Given the description of an element on the screen output the (x, y) to click on. 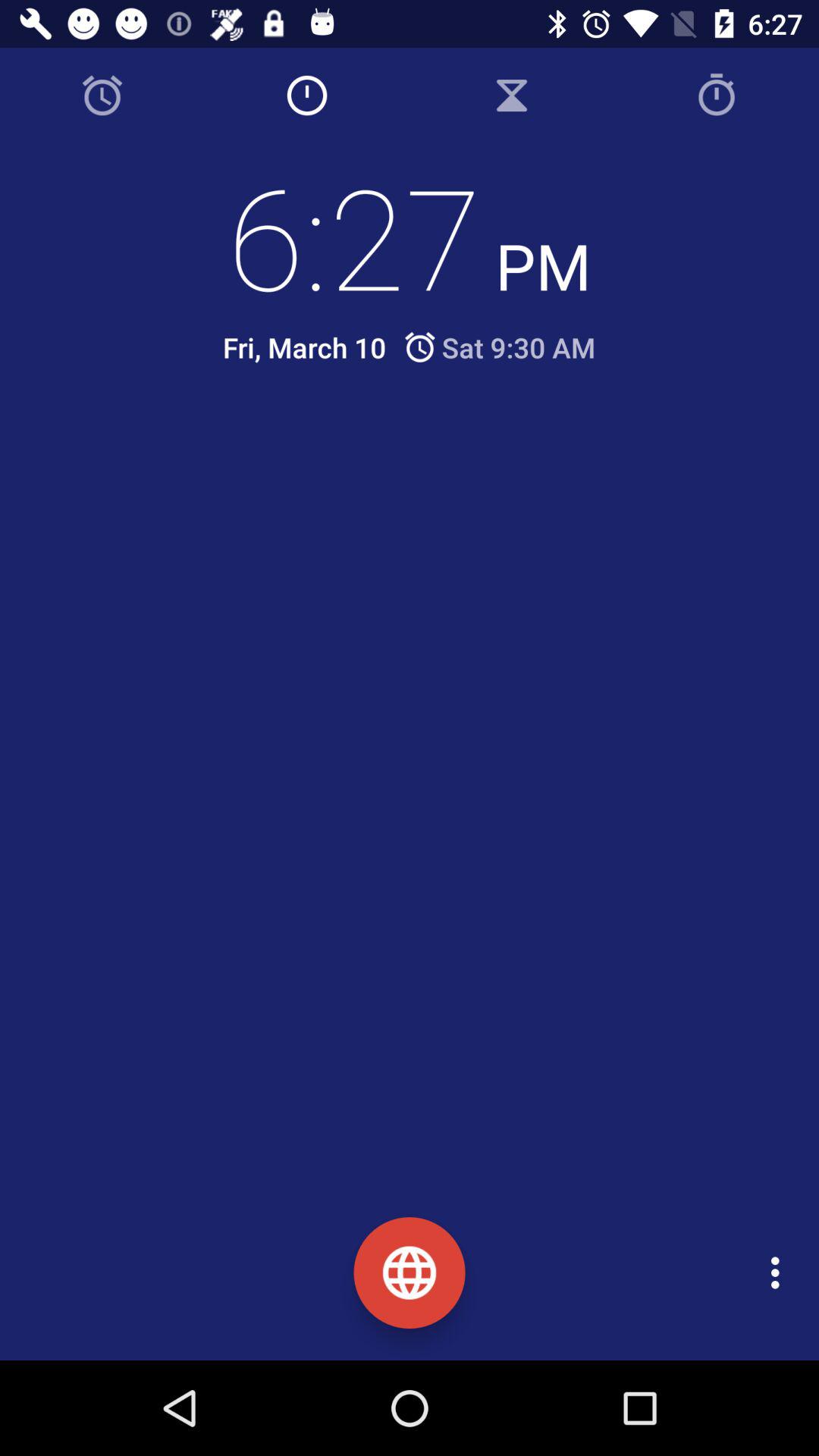
click icon to the left of the sat 9 30 item (304, 347)
